Given the description of an element on the screen output the (x, y) to click on. 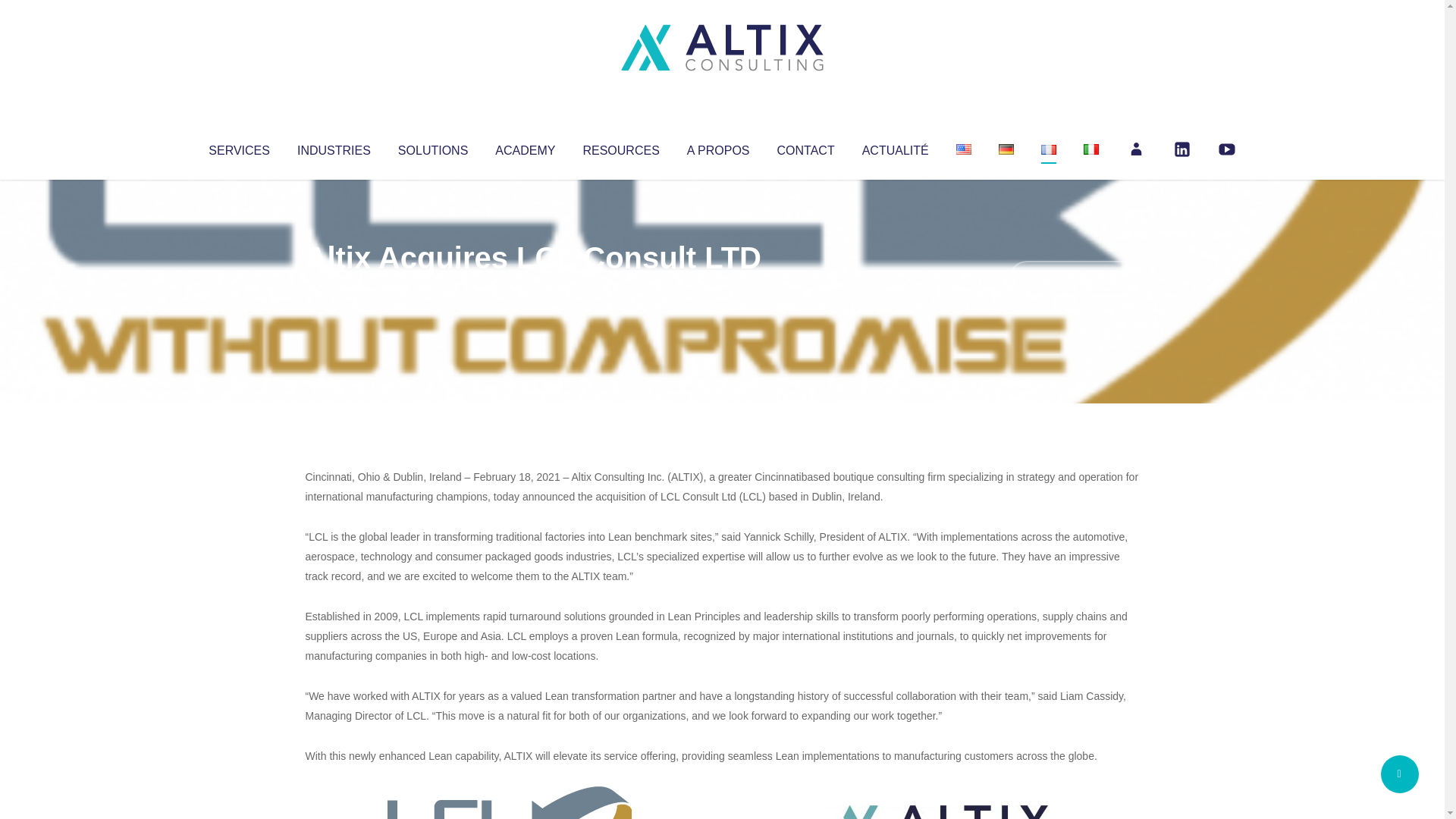
No Comments (1073, 278)
SERVICES (238, 146)
RESOURCES (620, 146)
INDUSTRIES (334, 146)
Articles par Altix (333, 287)
Uncategorized (530, 287)
ACADEMY (524, 146)
SOLUTIONS (432, 146)
A PROPOS (718, 146)
Altix (333, 287)
